Given the description of an element on the screen output the (x, y) to click on. 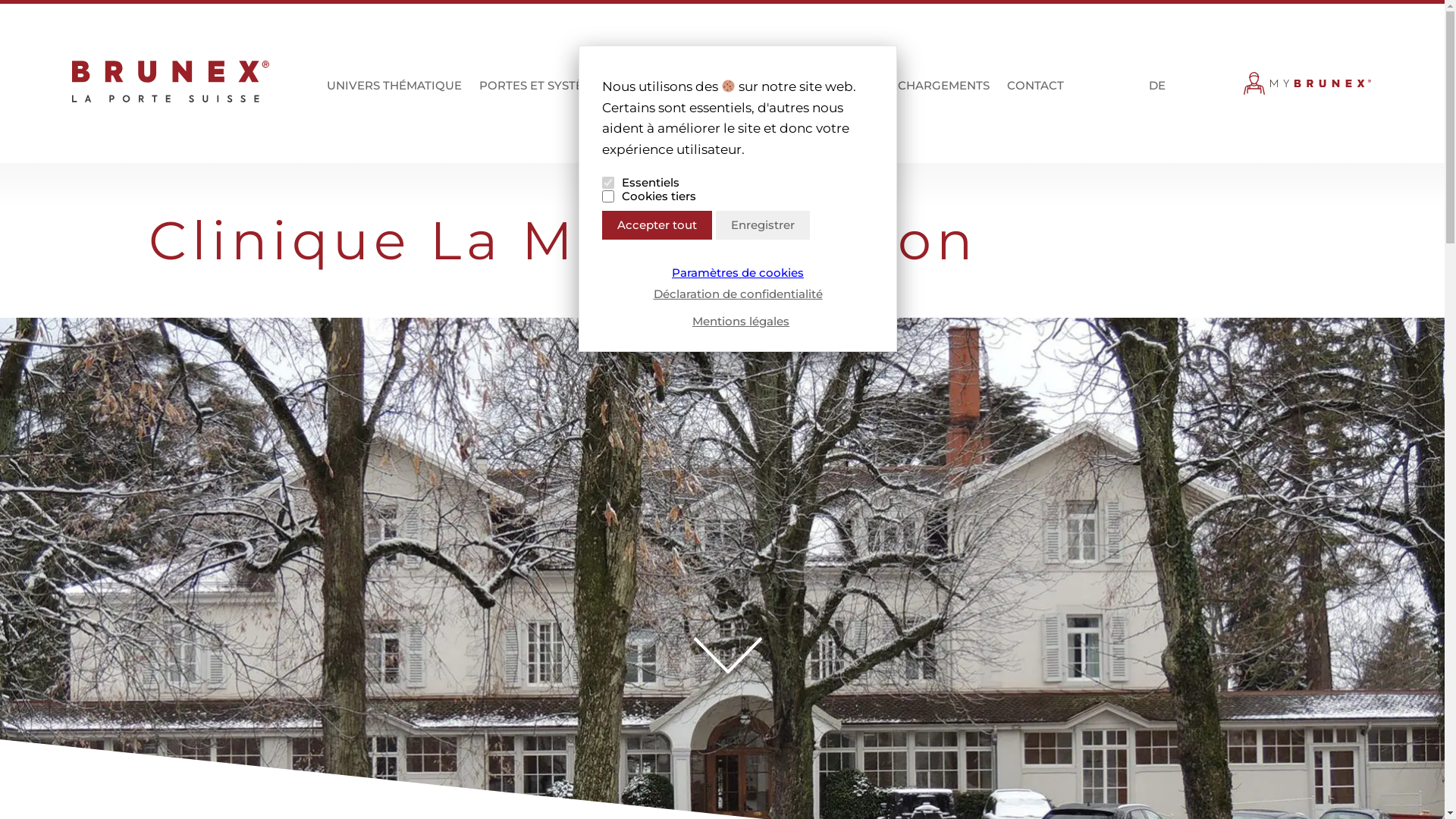
DE Element type: text (1156, 87)
Enregistrer Element type: text (762, 224)
ENTREPRISE Element type: text (814, 92)
Accepter tout Element type: text (657, 224)
MYBRUNEX Element type: text (1307, 87)
CONTACT Element type: text (1035, 92)
